Given the description of an element on the screen output the (x, y) to click on. 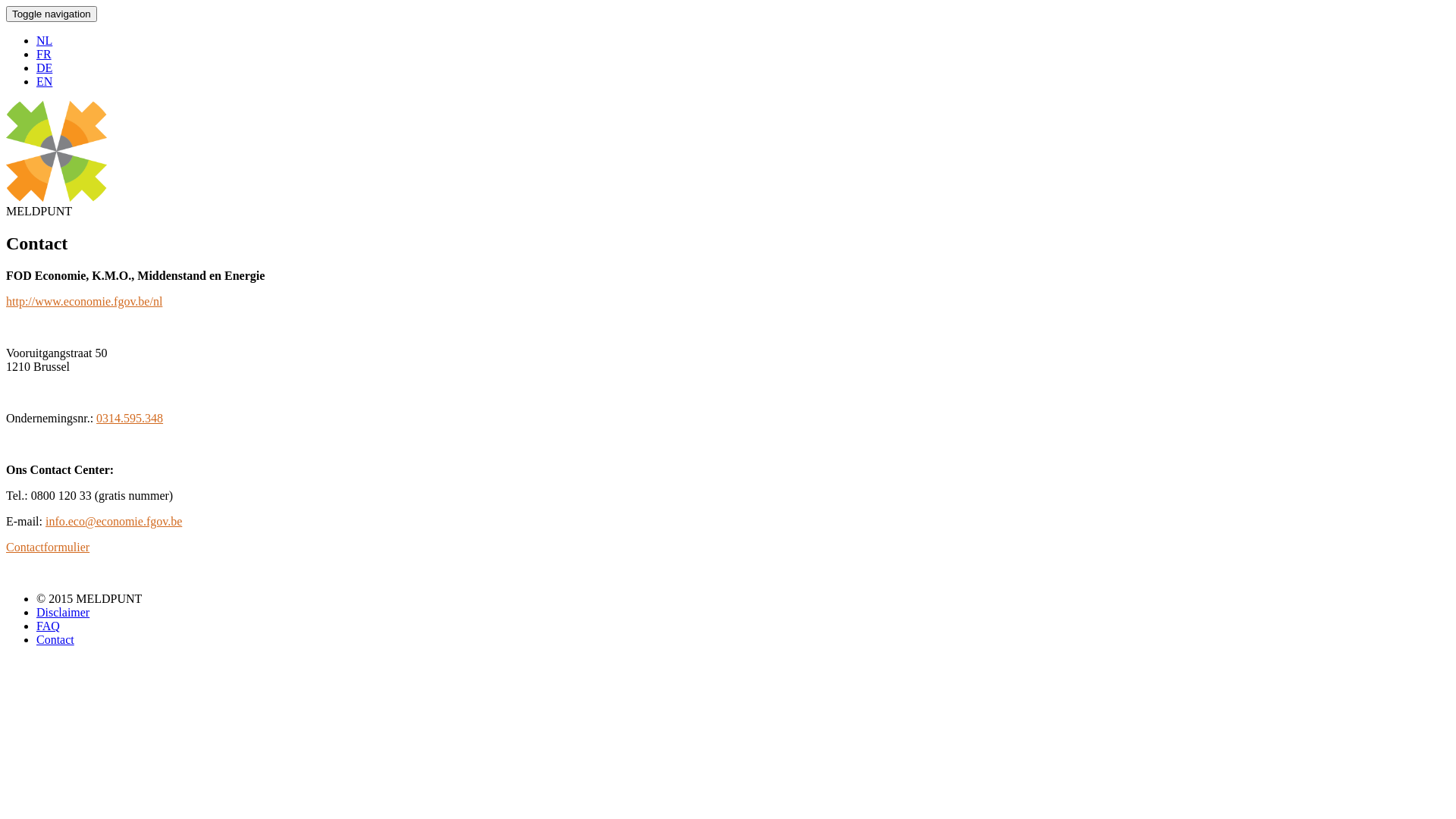
http://www.economie.fgov.be/nl Element type: text (84, 300)
EN Element type: text (44, 81)
FR Element type: text (43, 53)
Contact Element type: text (55, 639)
info.eco@economie.fgov.be Element type: text (113, 520)
DE Element type: text (44, 67)
FAQ Element type: text (47, 625)
Contactformulier Element type: text (47, 546)
NL Element type: text (44, 40)
0314.595.348 Element type: text (129, 417)
Disclaimer Element type: text (62, 611)
Toggle navigation Element type: text (51, 13)
